Given the description of an element on the screen output the (x, y) to click on. 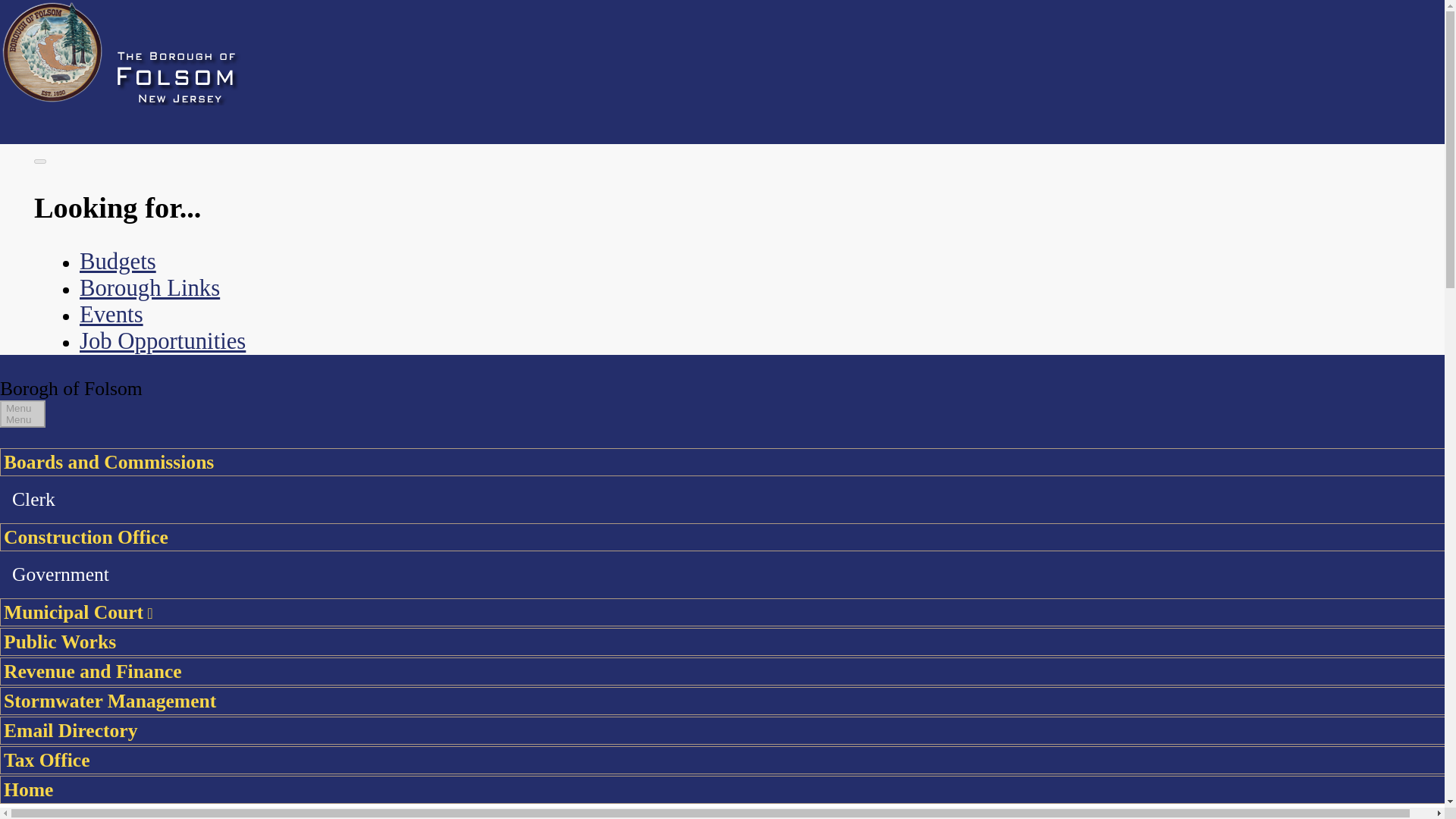
Construction Office (728, 537)
Municipal Court (728, 612)
Budgets (117, 261)
Budgets (117, 261)
Stormwater Management (728, 700)
Revenue and Finance (728, 671)
Tax Office (728, 759)
Email Directory (728, 730)
Borough Links (149, 288)
Job Opportunities (163, 340)
